Given the description of an element on the screen output the (x, y) to click on. 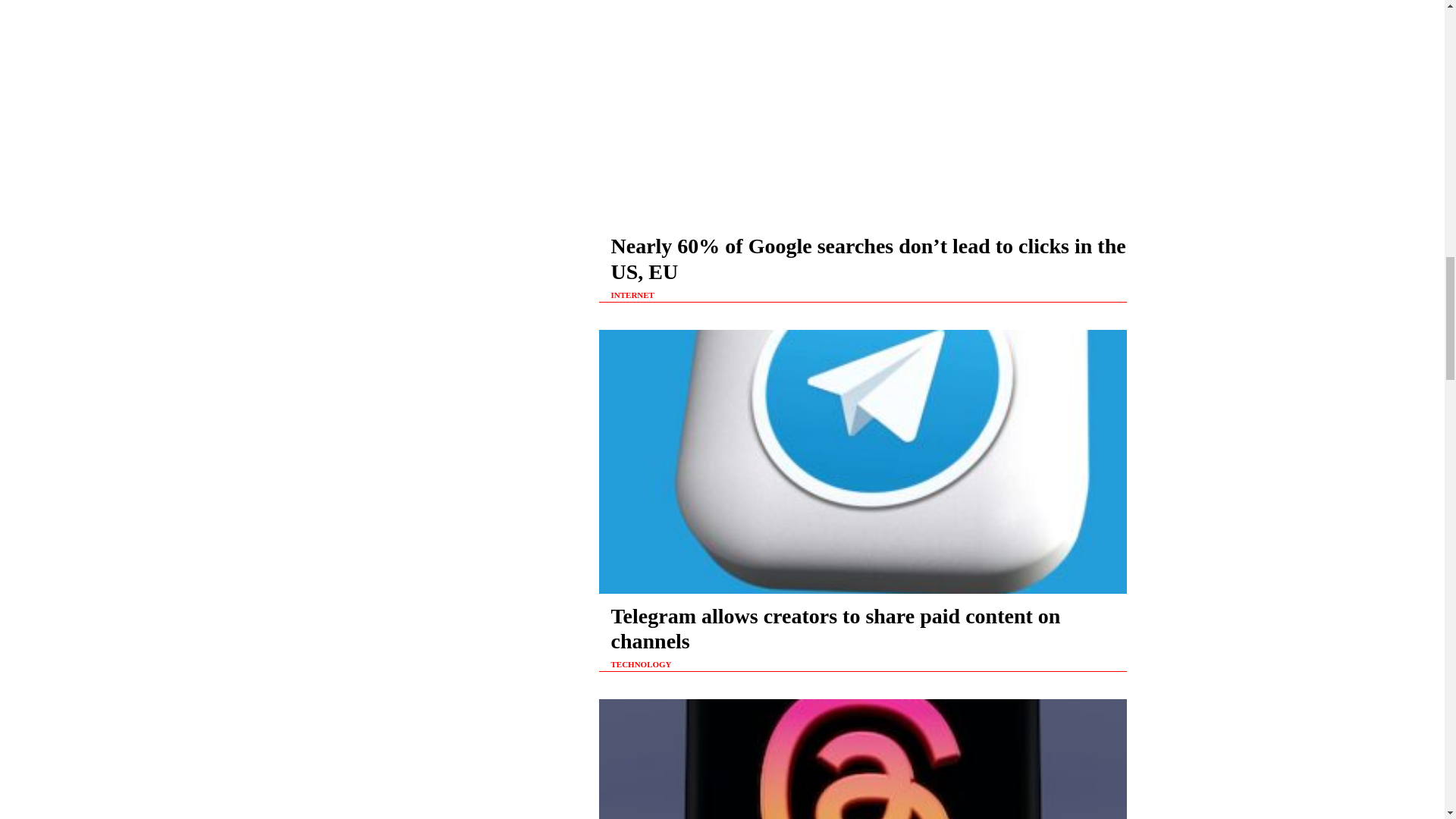
Telegram allows creators to share paid content on channels (834, 628)
INTERNET (631, 295)
Threads reaches 175 million users within one year (862, 759)
Telegram allows creators to share paid content on channels (834, 628)
TECHNOLOGY (640, 664)
